Given the description of an element on the screen output the (x, y) to click on. 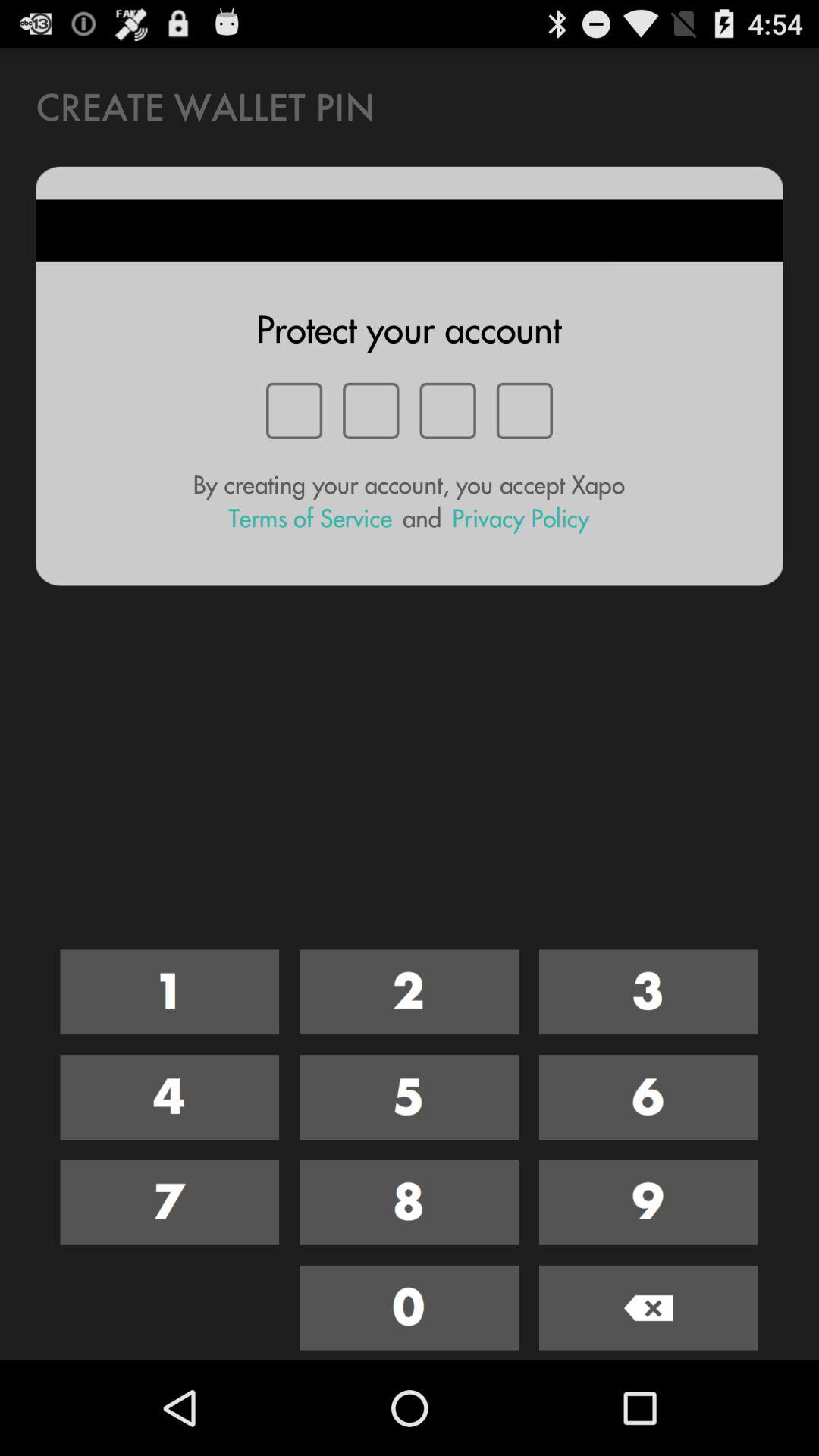
keypad 9 (648, 1202)
